Given the description of an element on the screen output the (x, y) to click on. 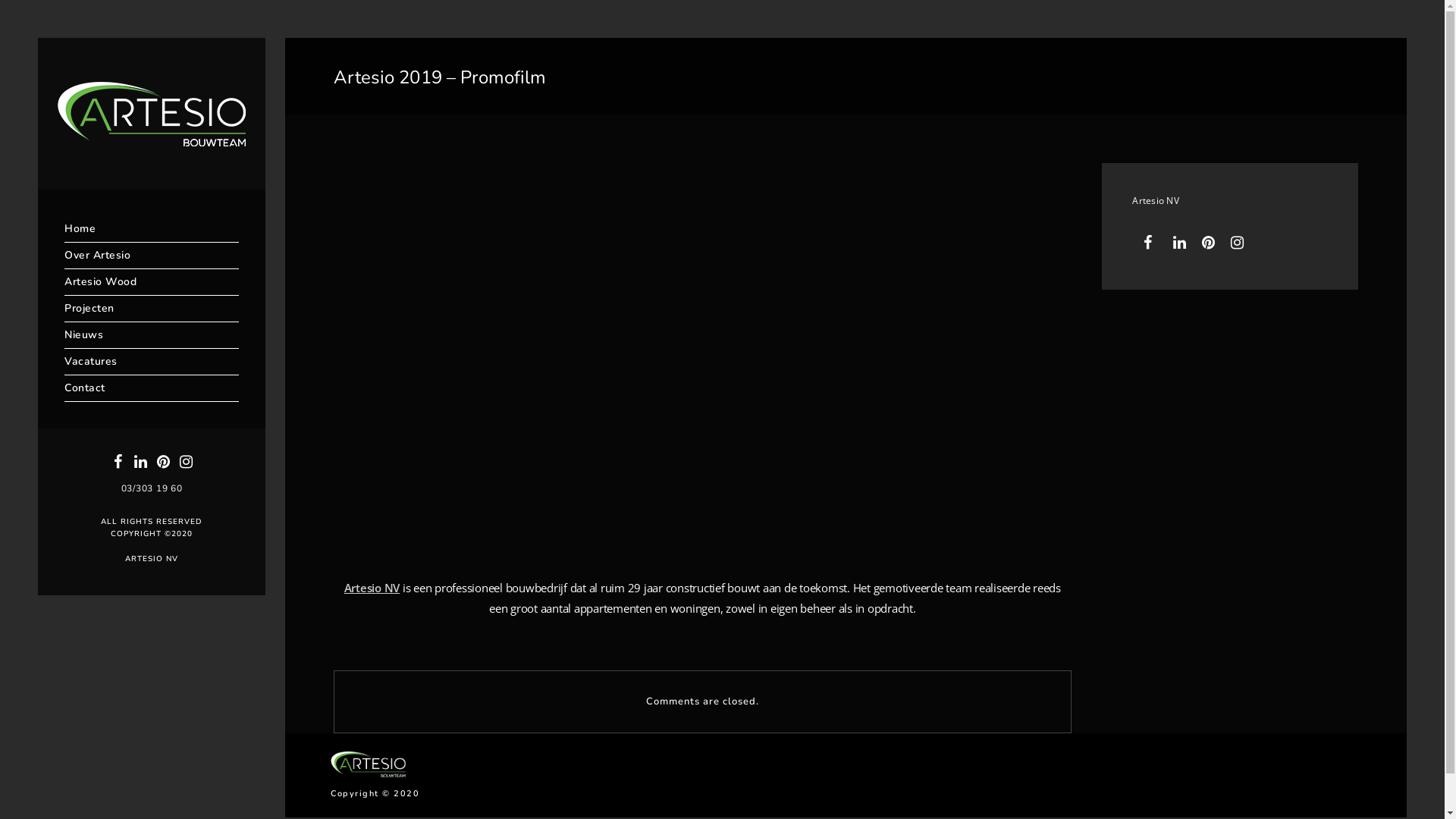
Instagram Element type: hover (185, 461)
Vacatures Element type: text (151, 361)
Projecten Element type: text (151, 308)
Over Artesio Element type: text (151, 255)
Pinterest Element type: hover (1209, 242)
Nieuws Element type: text (151, 335)
Instagram Element type: hover (1237, 242)
LinkedIn Element type: hover (139, 461)
Home Element type: text (151, 229)
Artesio NV Element type: text (372, 587)
Facebook Element type: hover (117, 461)
Pinterest Element type: hover (162, 461)
Facebook Element type: hover (1150, 242)
LinkedIn Element type: hover (1179, 242)
Artesio NV Element type: text (1155, 200)
Contact Element type: text (151, 388)
Artesio Wood Element type: text (151, 282)
